Given the description of an element on the screen output the (x, y) to click on. 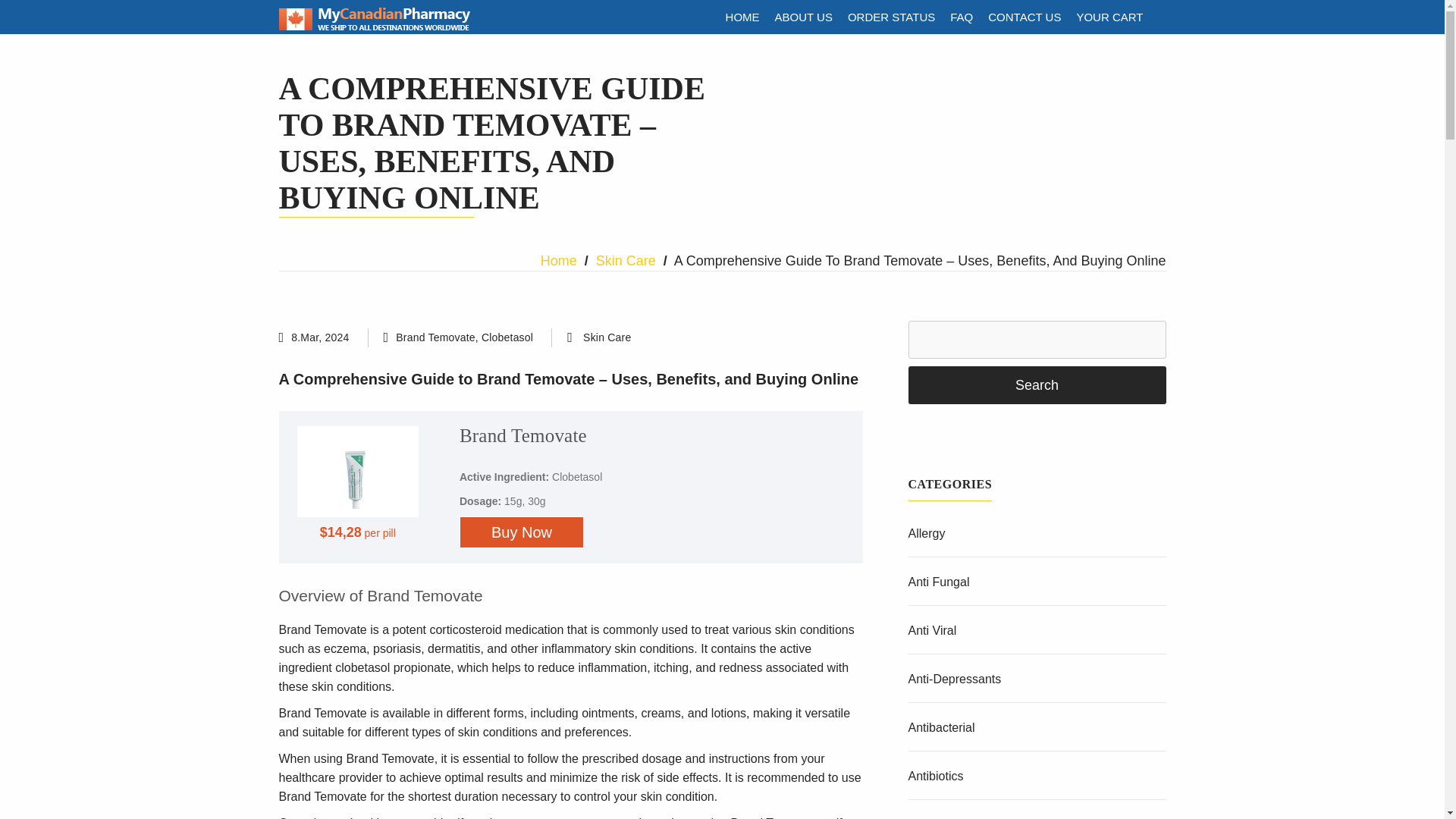
My Canadian Pharmacy (374, 26)
Anti Fungal (938, 581)
ABOUT US (803, 16)
Buy Now (521, 531)
Brand Temovate, Clobetasol (464, 337)
HOME (742, 16)
logo (374, 18)
Search (1037, 385)
CONTACT US (1023, 16)
Anti-Depressants (954, 678)
